Given the description of an element on the screen output the (x, y) to click on. 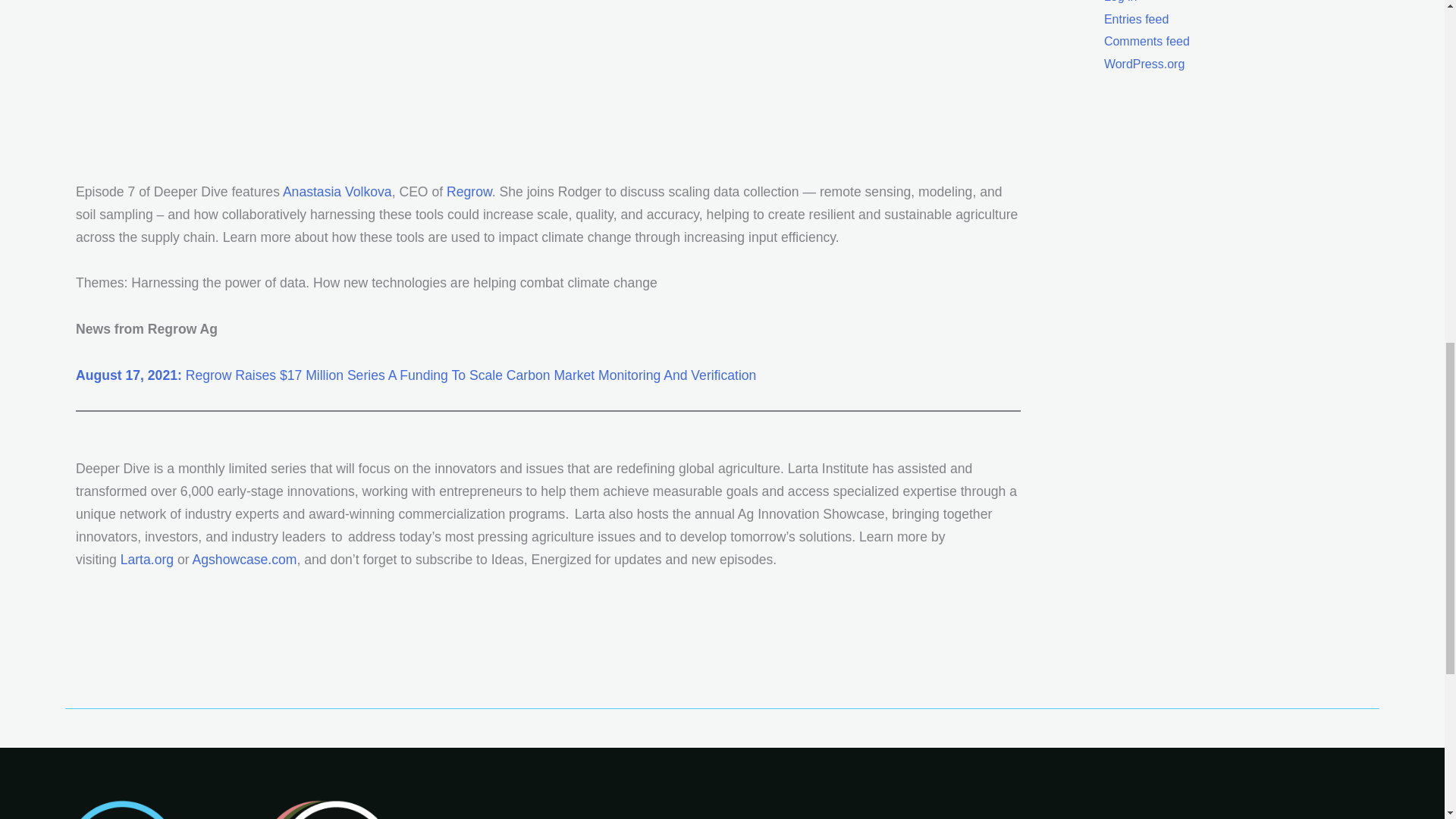
Regrow (469, 191)
WordPress.org (1144, 63)
Anastasia Volkova (336, 191)
Log in (1120, 1)
Agshowcase.com (244, 559)
Comments feed (1146, 41)
Entries feed (1136, 18)
Larta.org (146, 559)
